Given the description of an element on the screen output the (x, y) to click on. 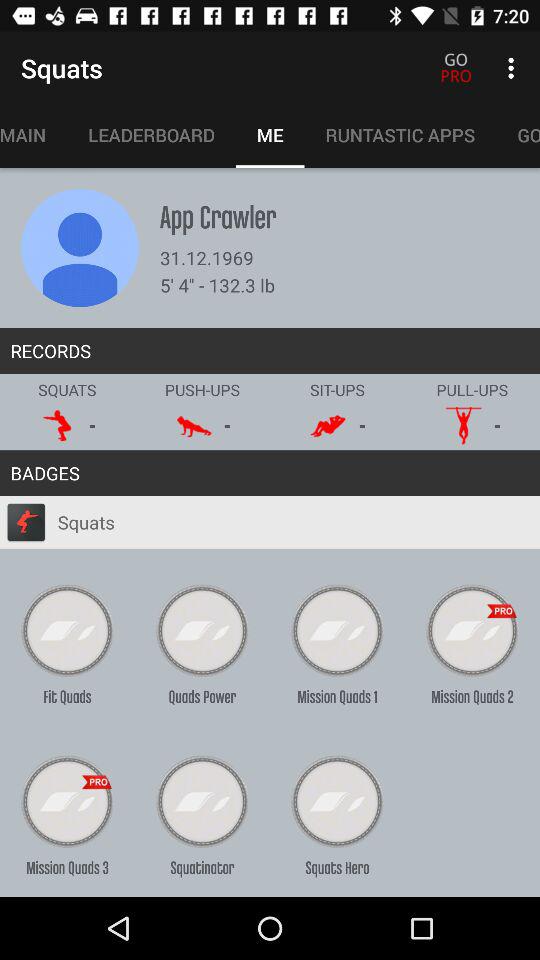
jump until leaderboard (151, 135)
